Given the description of an element on the screen output the (x, y) to click on. 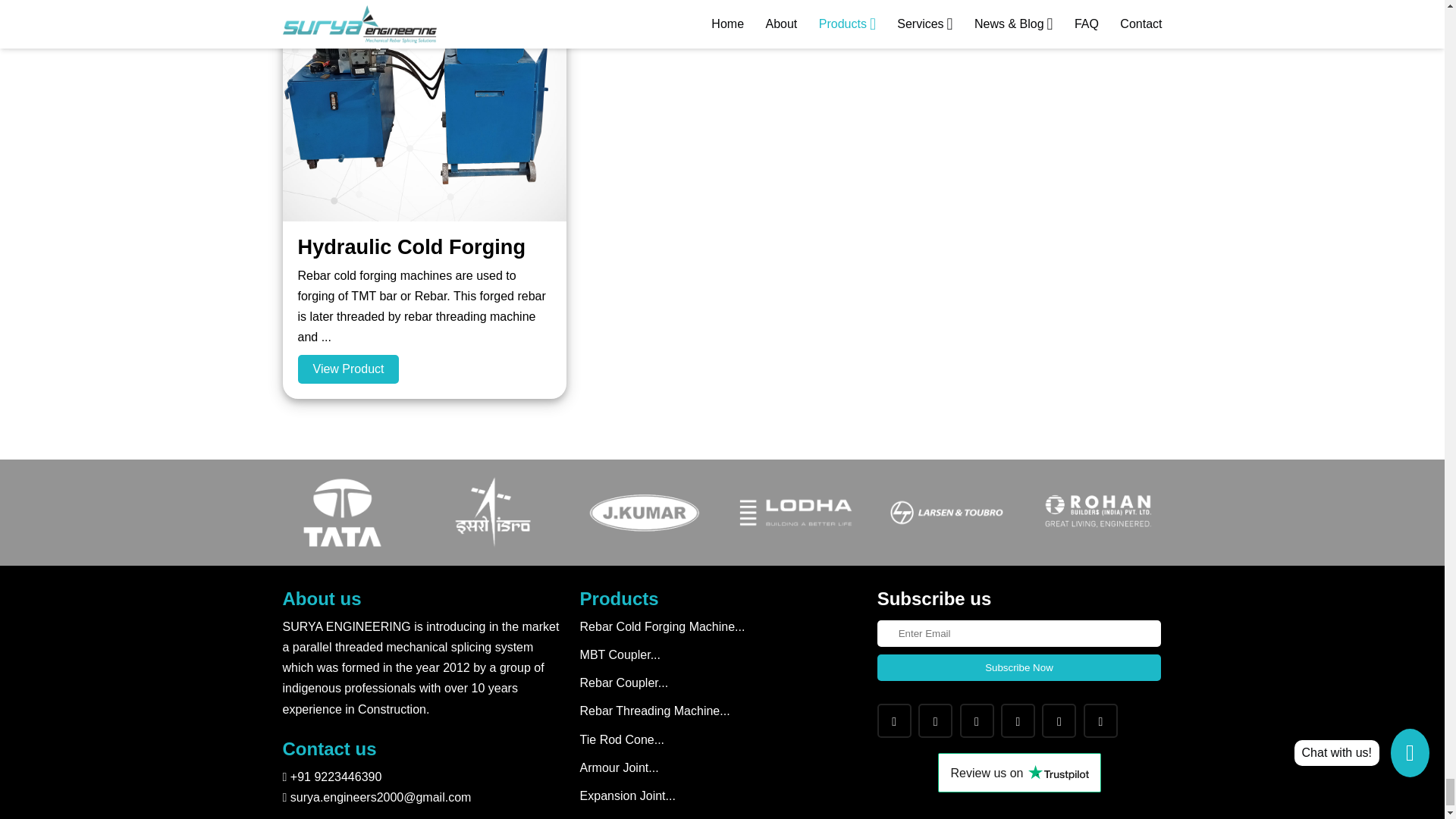
Linkedin (1100, 720)
Youtube (1058, 720)
Customer reviews powered by Trustpilot (1019, 772)
Hydraulic Cold Forging Machine or Rebar Cold Forging Machine (347, 368)
Pinterest (1018, 720)
Instagram (935, 720)
Twitter (976, 720)
Facebook (894, 720)
